Given the description of an element on the screen output the (x, y) to click on. 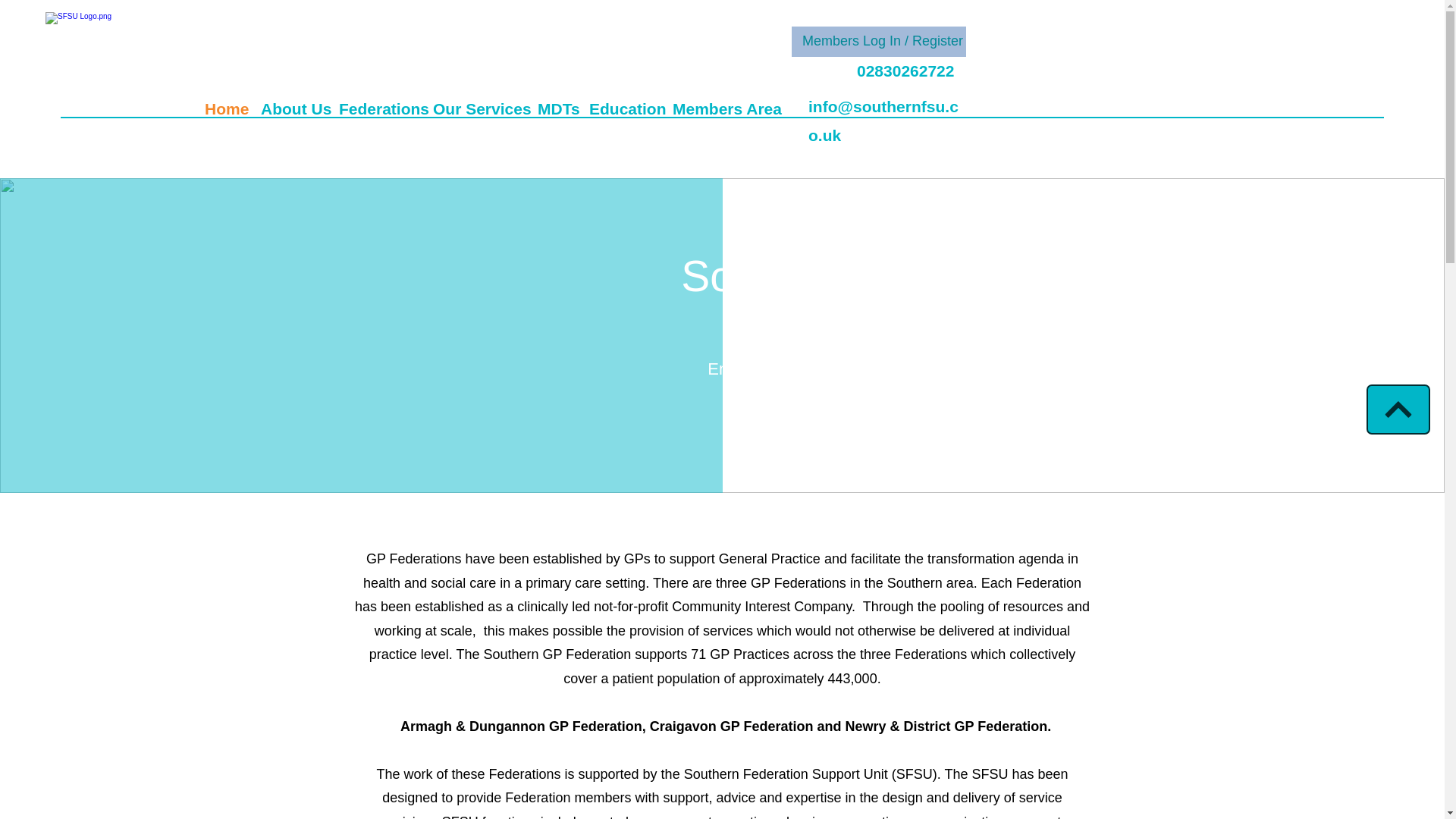
02830262722 (905, 70)
MDTs (554, 107)
Members Area (724, 107)
Education (622, 107)
Home (224, 107)
